Given the description of an element on the screen output the (x, y) to click on. 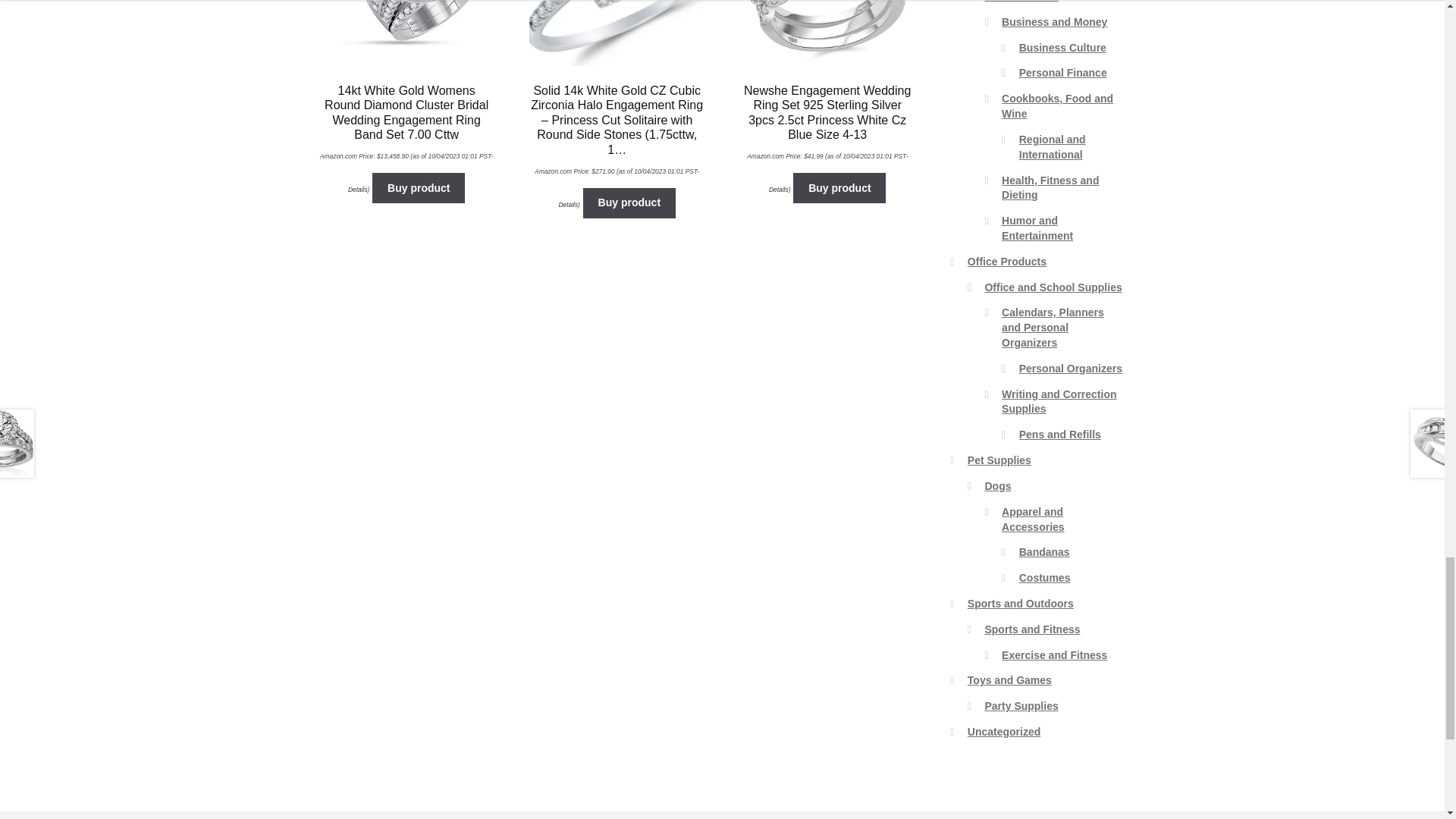
Details (567, 203)
Details (357, 189)
Buy product (629, 203)
Buy product (418, 187)
